Given the description of an element on the screen output the (x, y) to click on. 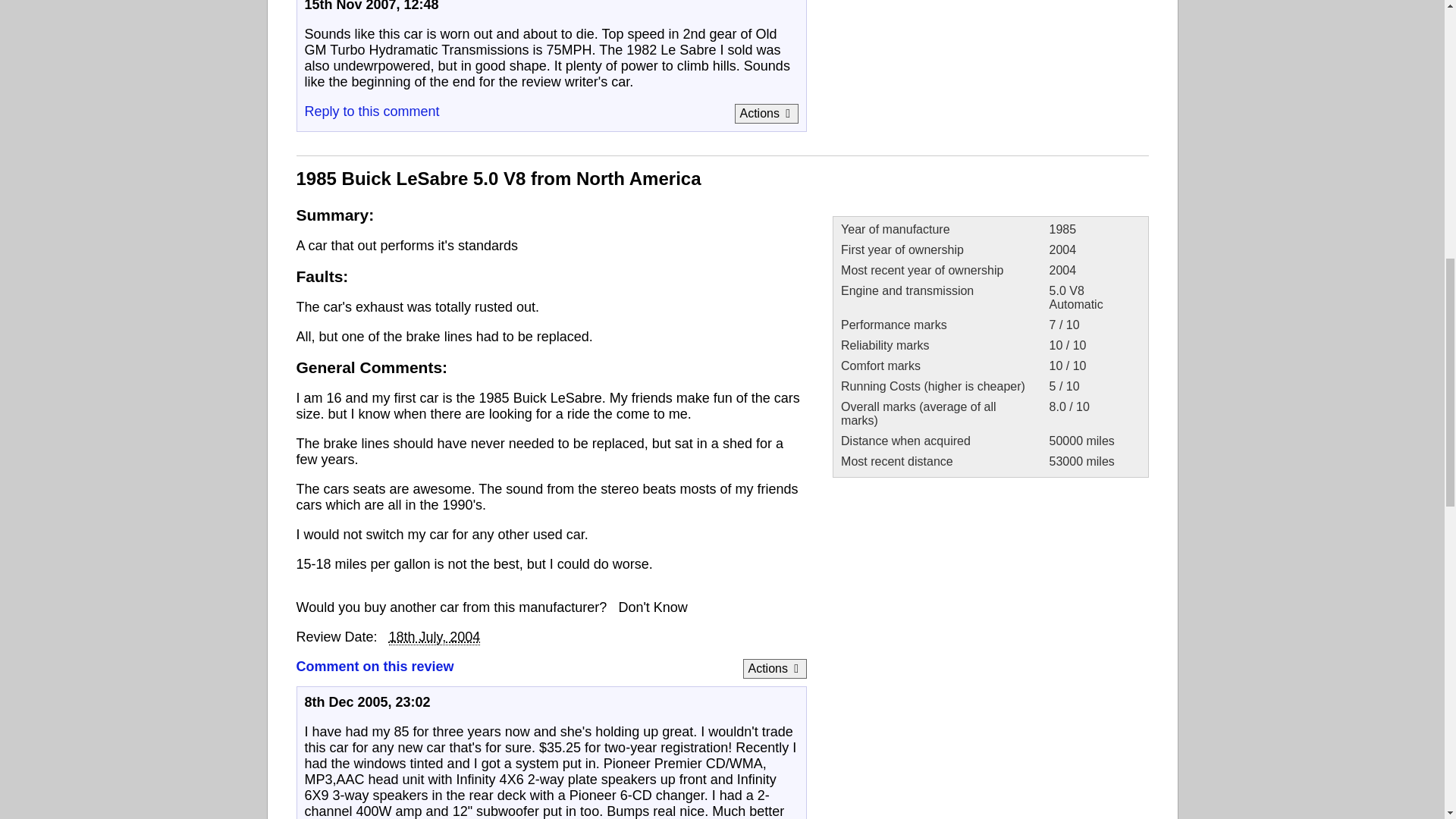
Reply to this comment (371, 110)
Comment on this review (373, 666)
Actions (774, 668)
Actions (766, 112)
